Given the description of an element on the screen output the (x, y) to click on. 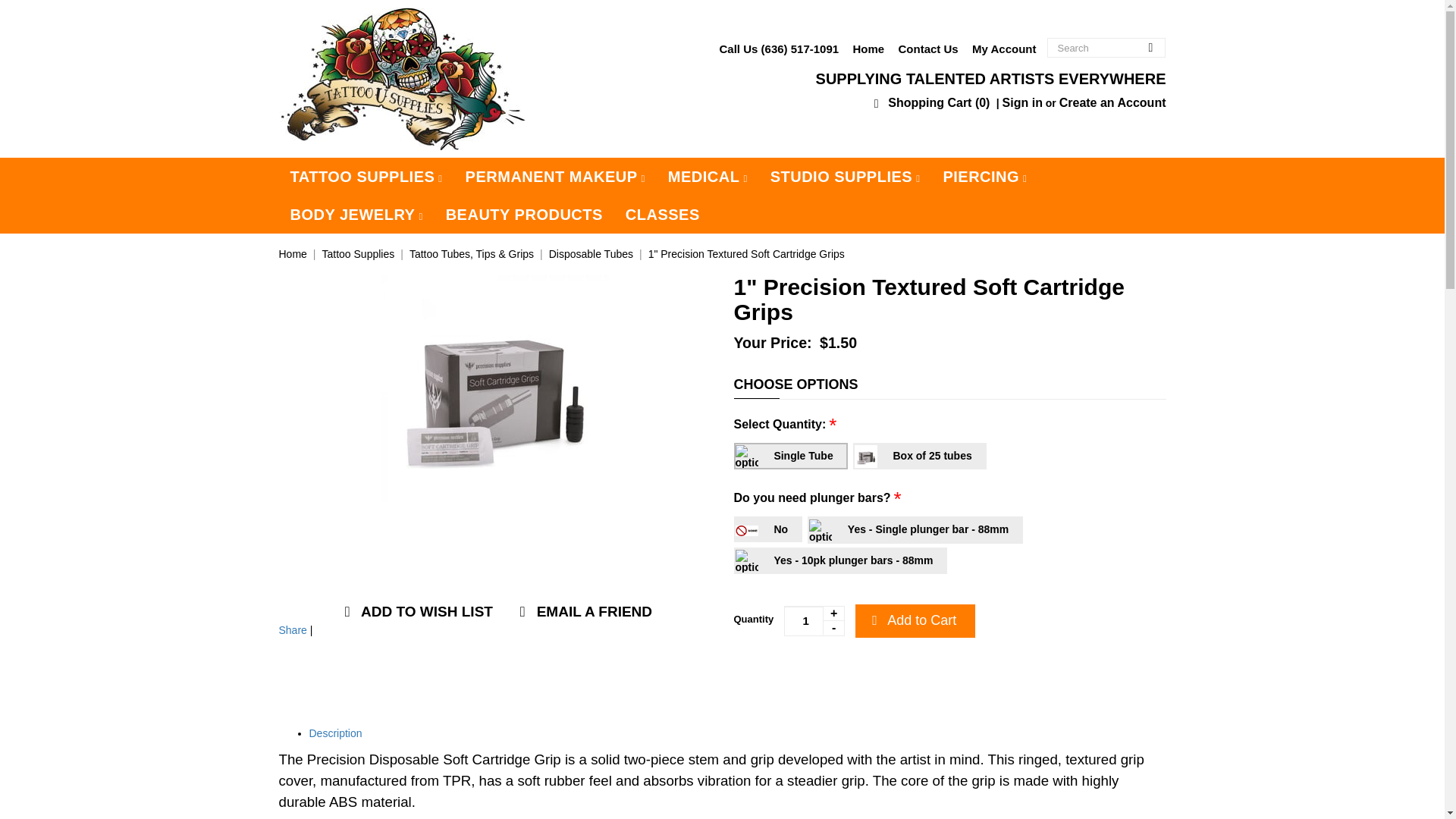
MEDICAL (707, 176)
Home (867, 48)
Single Tube (790, 456)
1 (814, 621)
PERMANENT MAKEUP (555, 176)
Sign in (1022, 102)
STUDIO SUPPLIES (844, 176)
TATTOO SUPPLIES (366, 176)
Create an Account (1112, 102)
Yes - Single plunger bar - 88mm (915, 529)
